Given the description of an element on the screen output the (x, y) to click on. 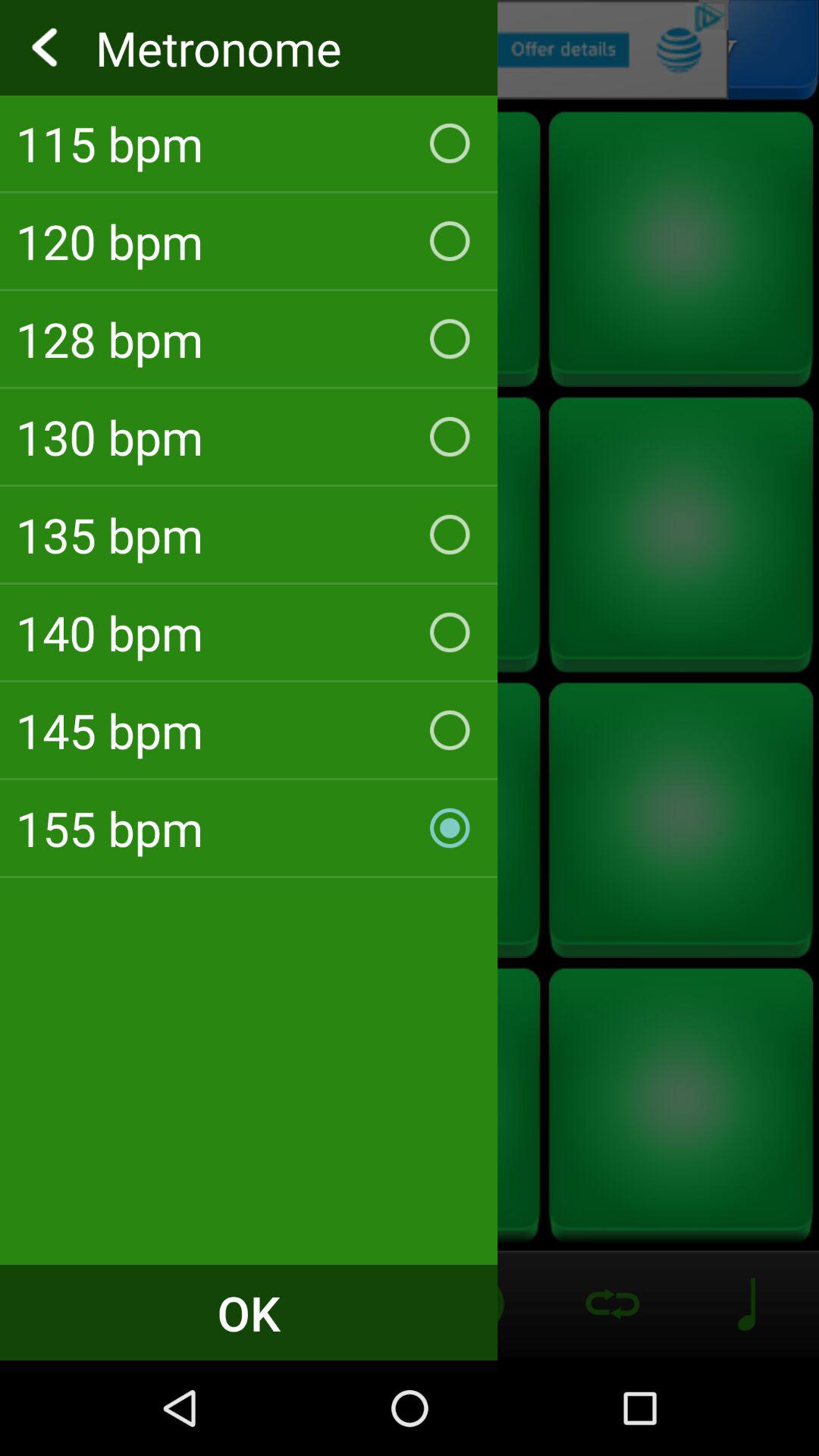
flip until the 140 bpm item (248, 632)
